Given the description of an element on the screen output the (x, y) to click on. 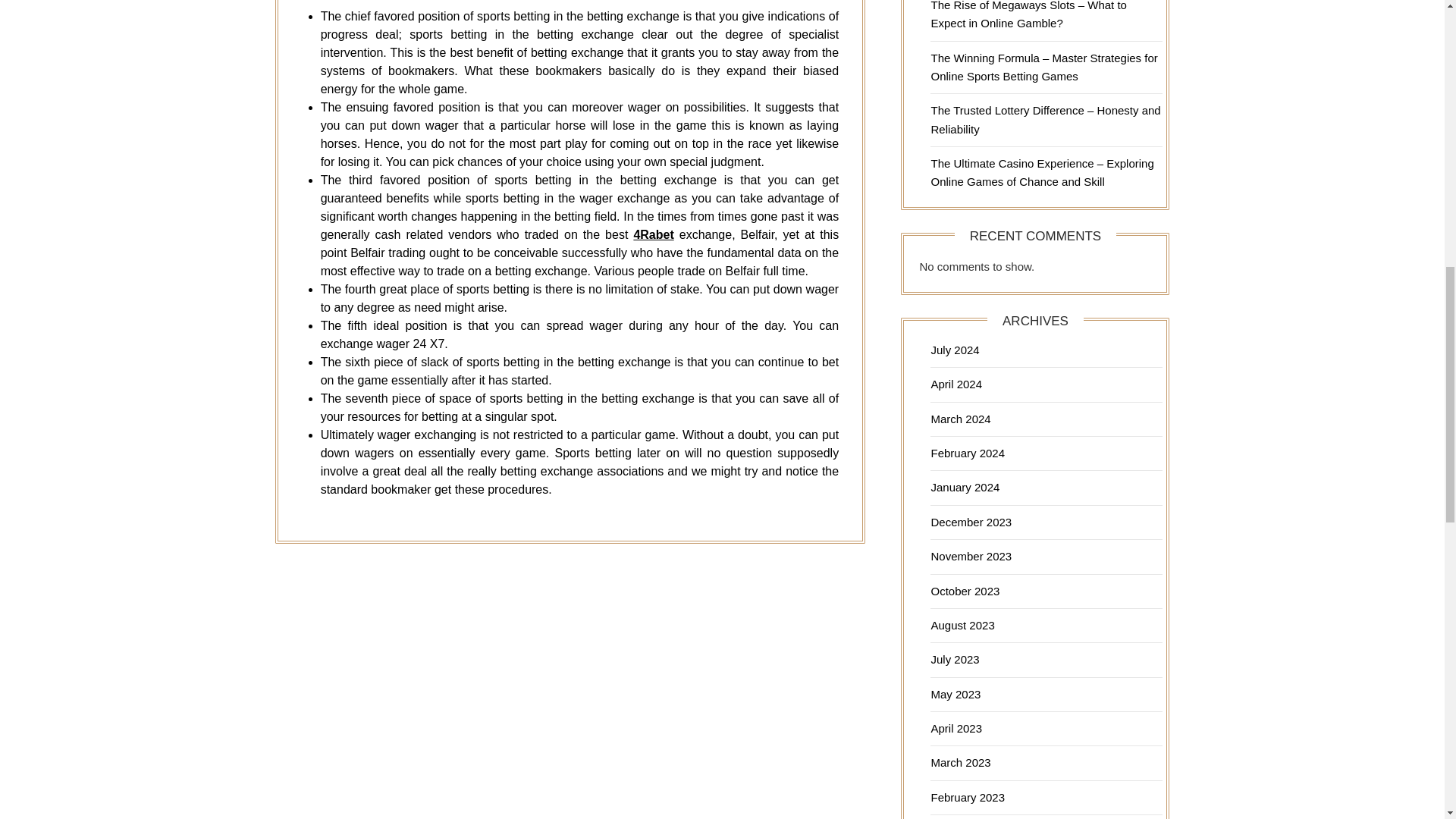
March 2024 (960, 418)
October 2023 (964, 590)
April 2024 (955, 383)
March 2023 (960, 762)
4Rabet (652, 234)
November 2023 (970, 555)
January 2024 (964, 486)
December 2023 (970, 521)
February 2024 (967, 452)
May 2023 (954, 694)
April 2023 (955, 727)
July 2023 (954, 658)
August 2023 (962, 625)
February 2023 (967, 797)
July 2024 (954, 349)
